Given the description of an element on the screen output the (x, y) to click on. 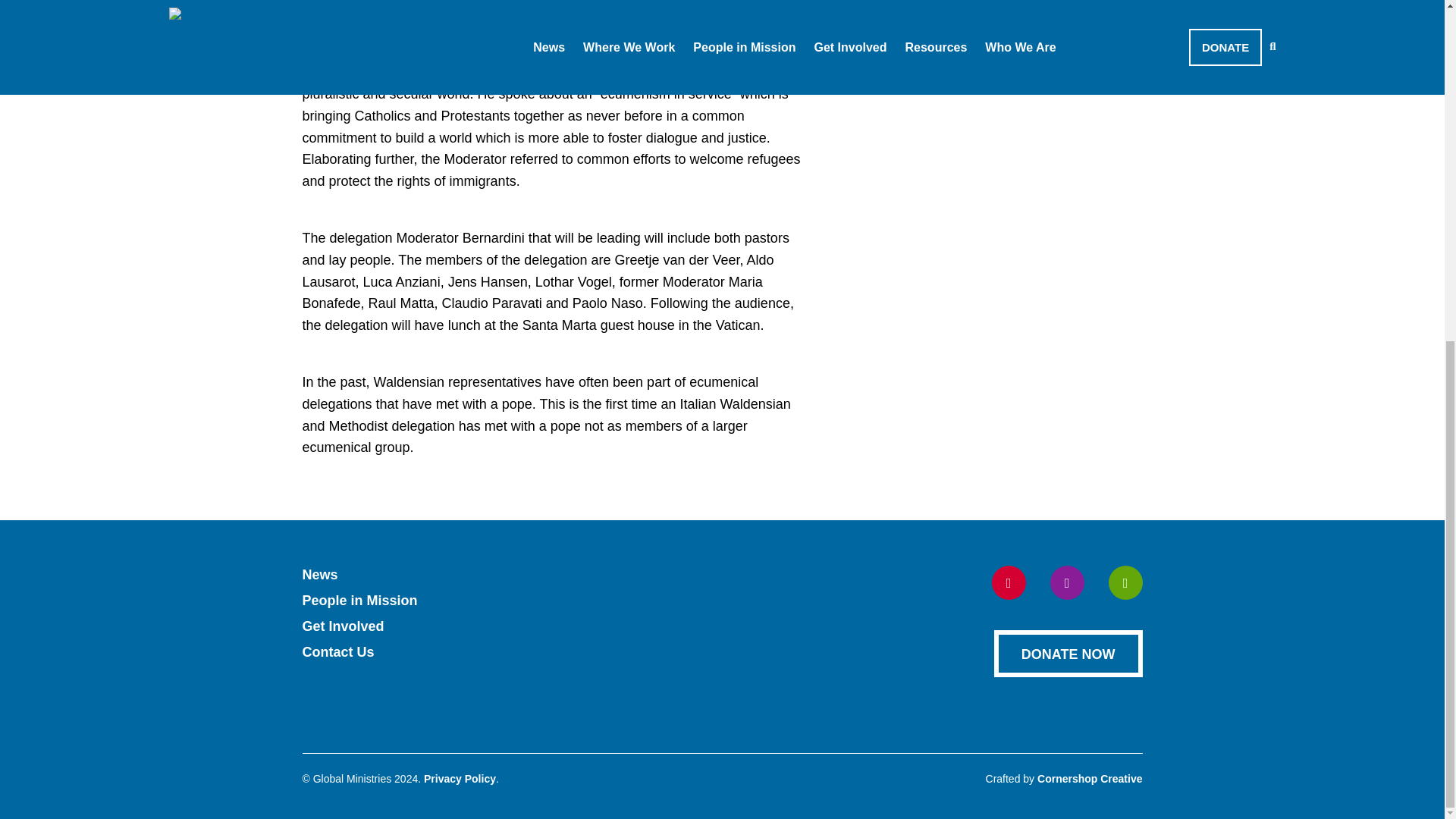
Follow us on Vimeo (1125, 582)
Follow us on Facebook (1008, 582)
Follow us on Twitter (1066, 582)
